Given the description of an element on the screen output the (x, y) to click on. 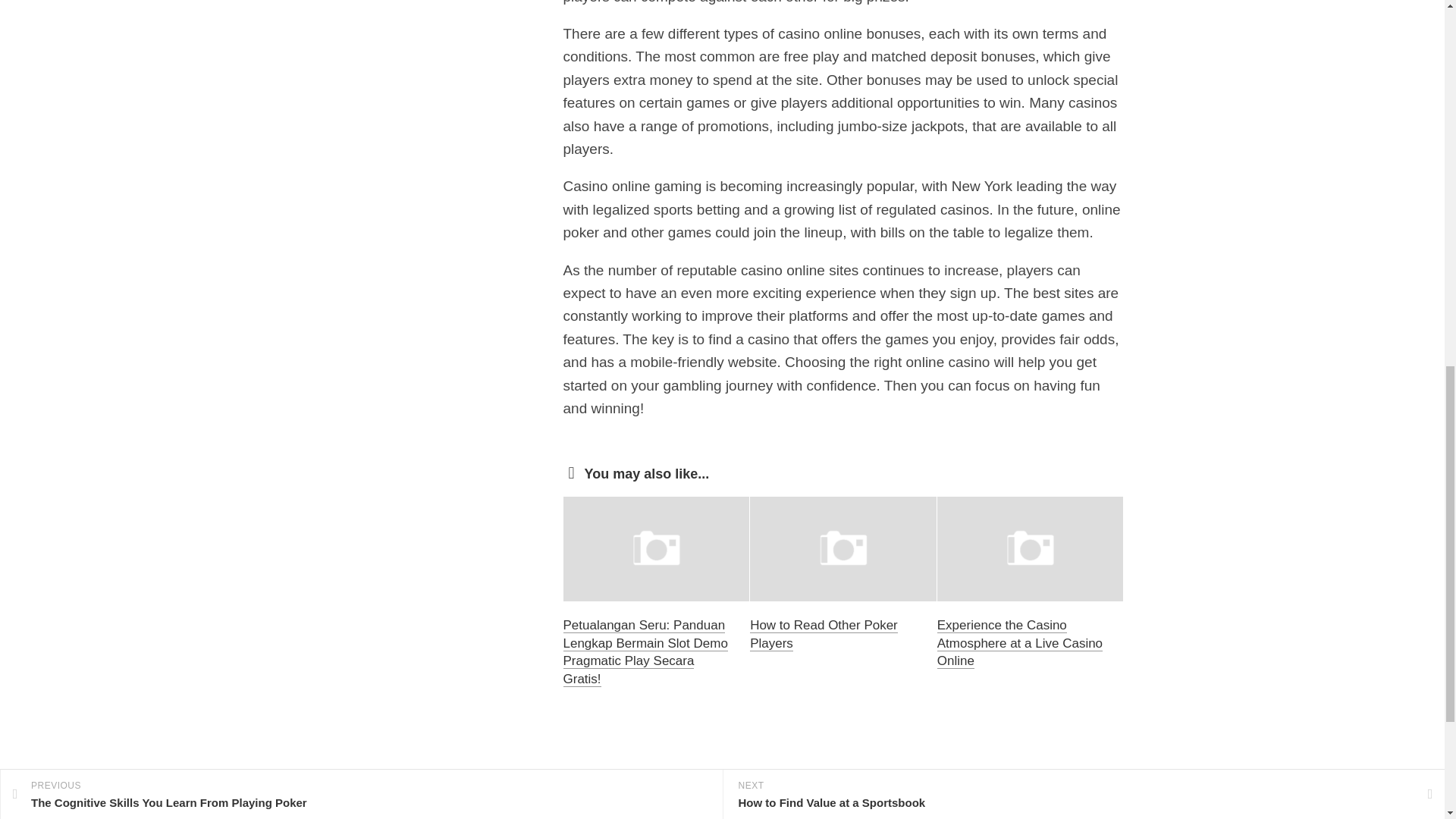
Experience the Casino Atmosphere at a Live Casino Online (1019, 643)
How to Read Other Poker Players (823, 634)
